Given the description of an element on the screen output the (x, y) to click on. 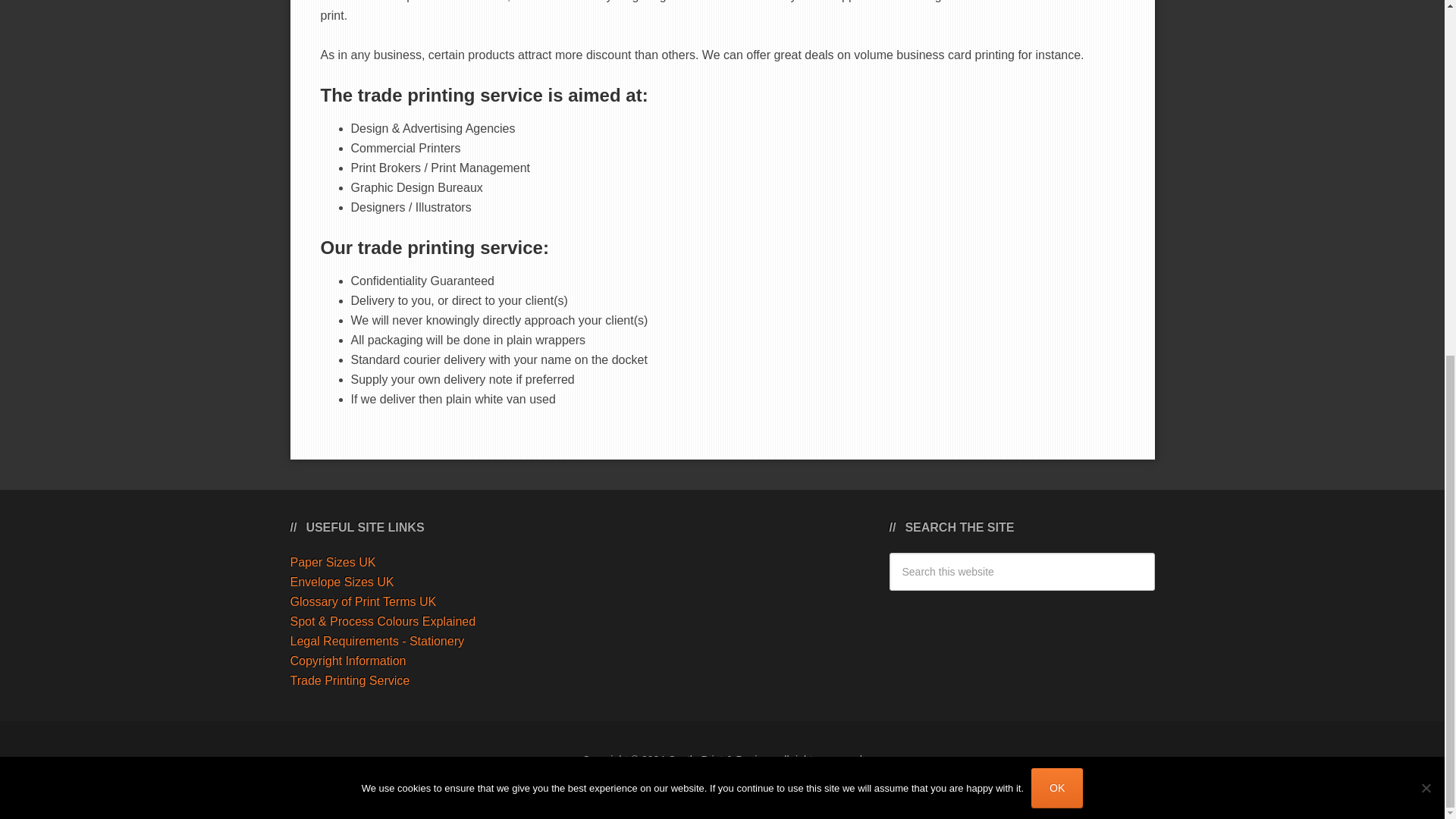
No (1425, 163)
